Given the description of an element on the screen output the (x, y) to click on. 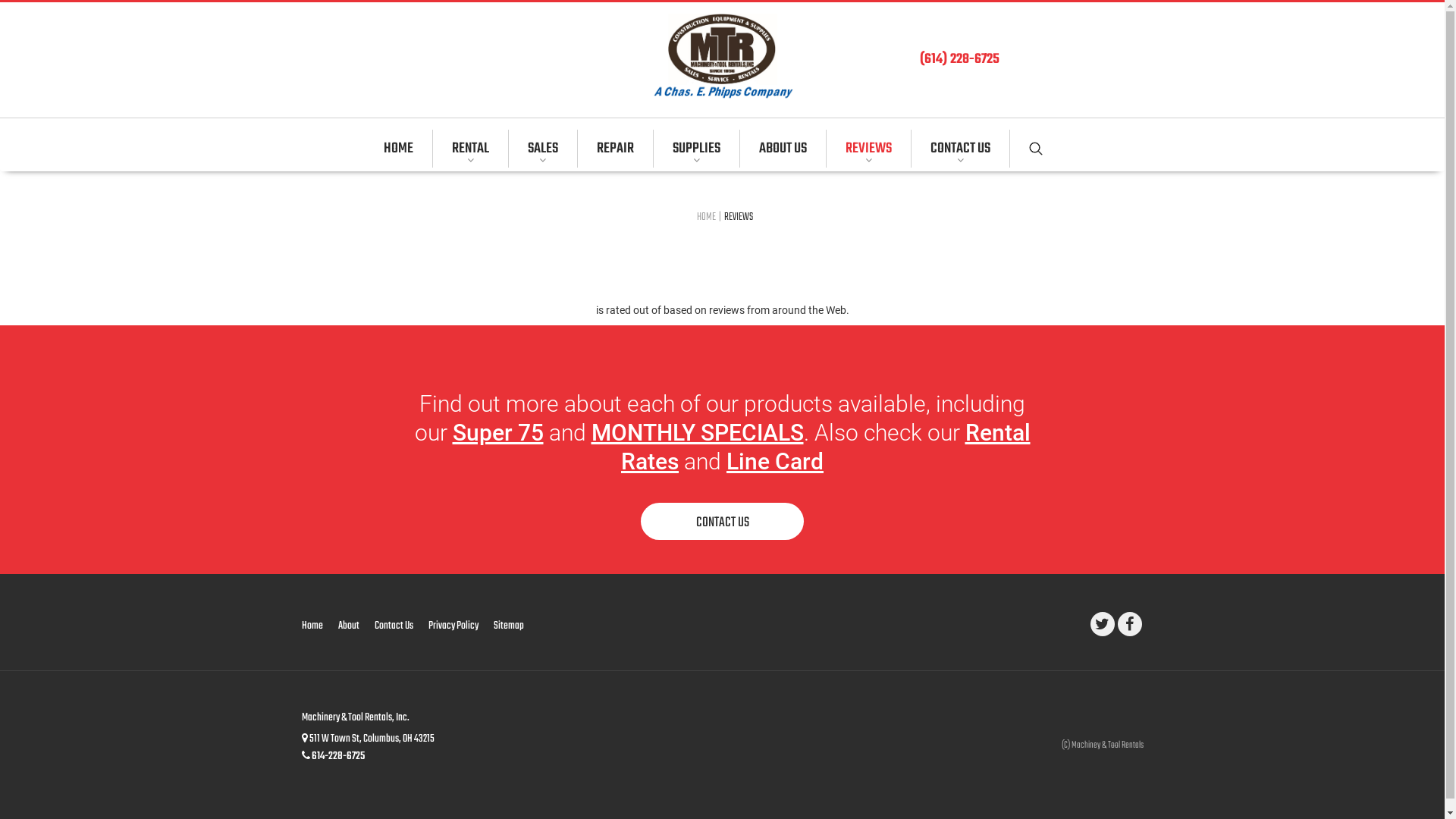
REVIEWS Element type: text (868, 148)
Line Card Element type: text (774, 461)
(614) 228-6725 Element type: text (958, 60)
RENTAL Element type: text (470, 148)
HOME Element type: text (408, 148)
614-228-6725 Element type: text (337, 756)
MONTHLY SPECIALS Element type: text (697, 432)
HOME Element type: text (705, 216)
SUPPLIES Element type: text (696, 148)
Home Element type: text (315, 625)
CONTACT US Element type: text (960, 148)
Rental Rates Element type: text (825, 446)
Contact Us Element type: text (393, 625)
Privacy Policy Element type: text (452, 625)
Sitemap Element type: text (507, 625)
REPAIR Element type: text (615, 148)
About Element type: text (348, 625)
CONTACT US Element type: text (721, 520)
SALES Element type: text (542, 148)
ABOUT US Element type: text (783, 148)
Super 75 Element type: text (496, 432)
